Given the description of an element on the screen output the (x, y) to click on. 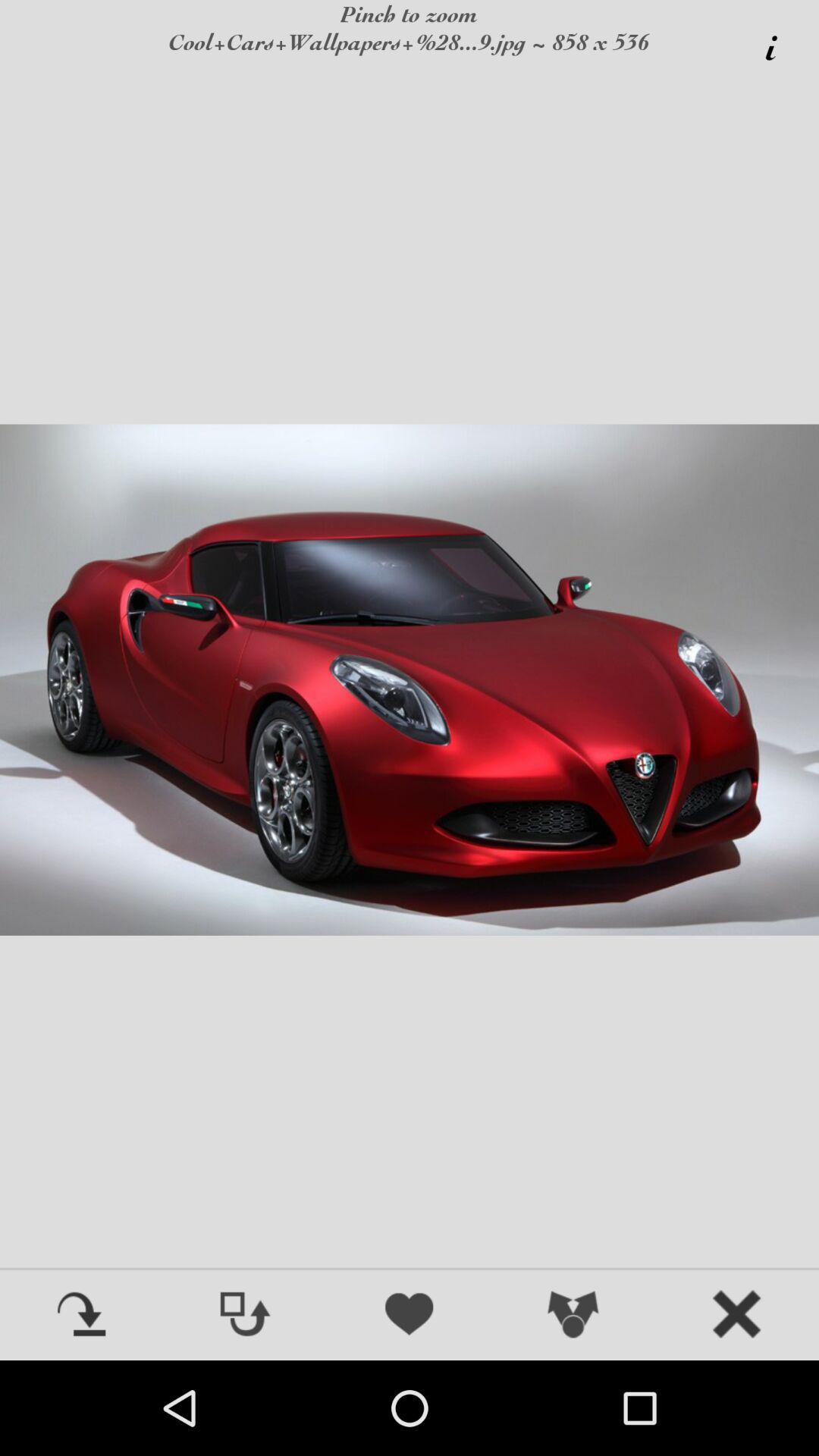
reload page (81, 1315)
